Given the description of an element on the screen output the (x, y) to click on. 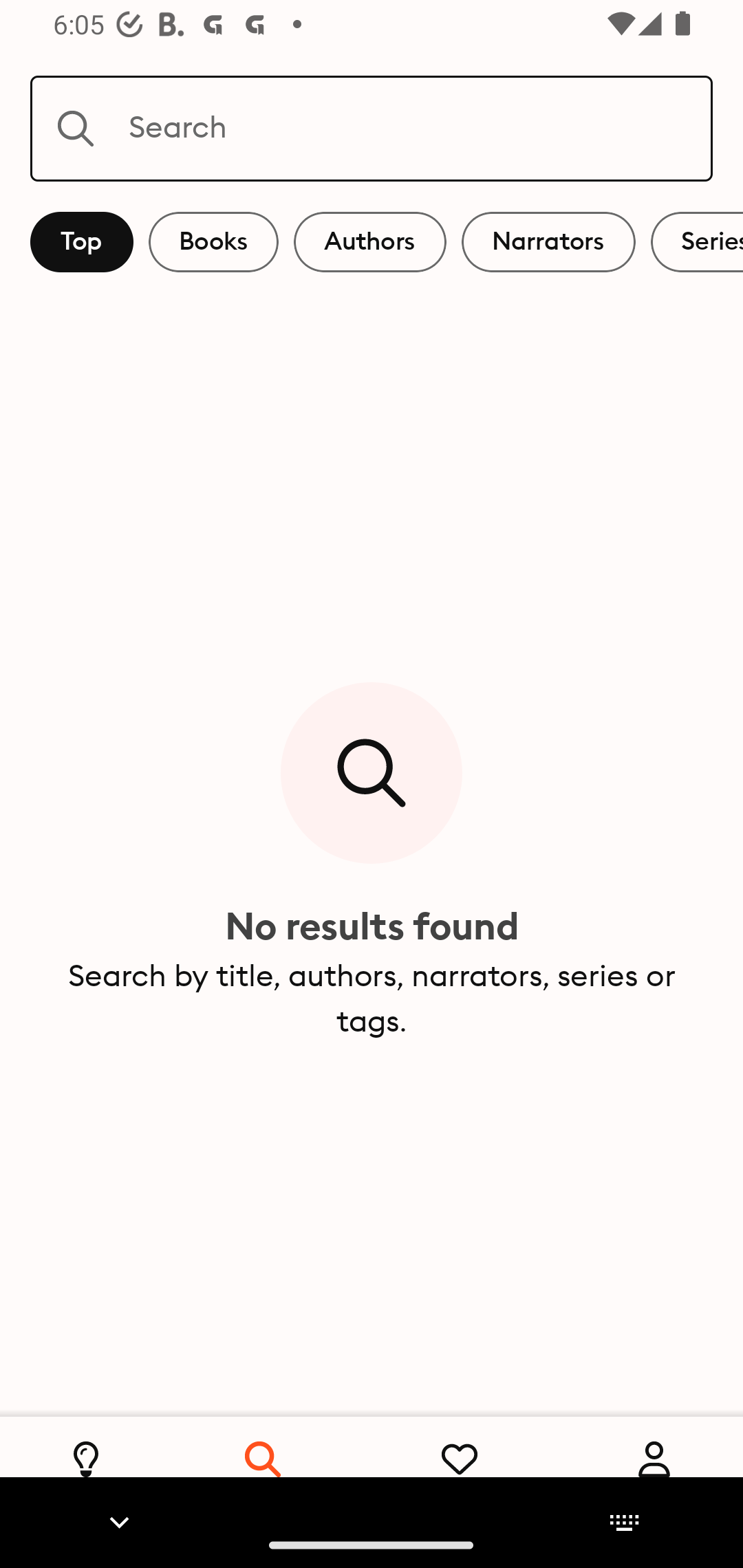
Search (371, 128)
Top (81, 241)
Books (213, 241)
Authors (369, 241)
Narrators (548, 241)
Series (696, 241)
